Given the description of an element on the screen output the (x, y) to click on. 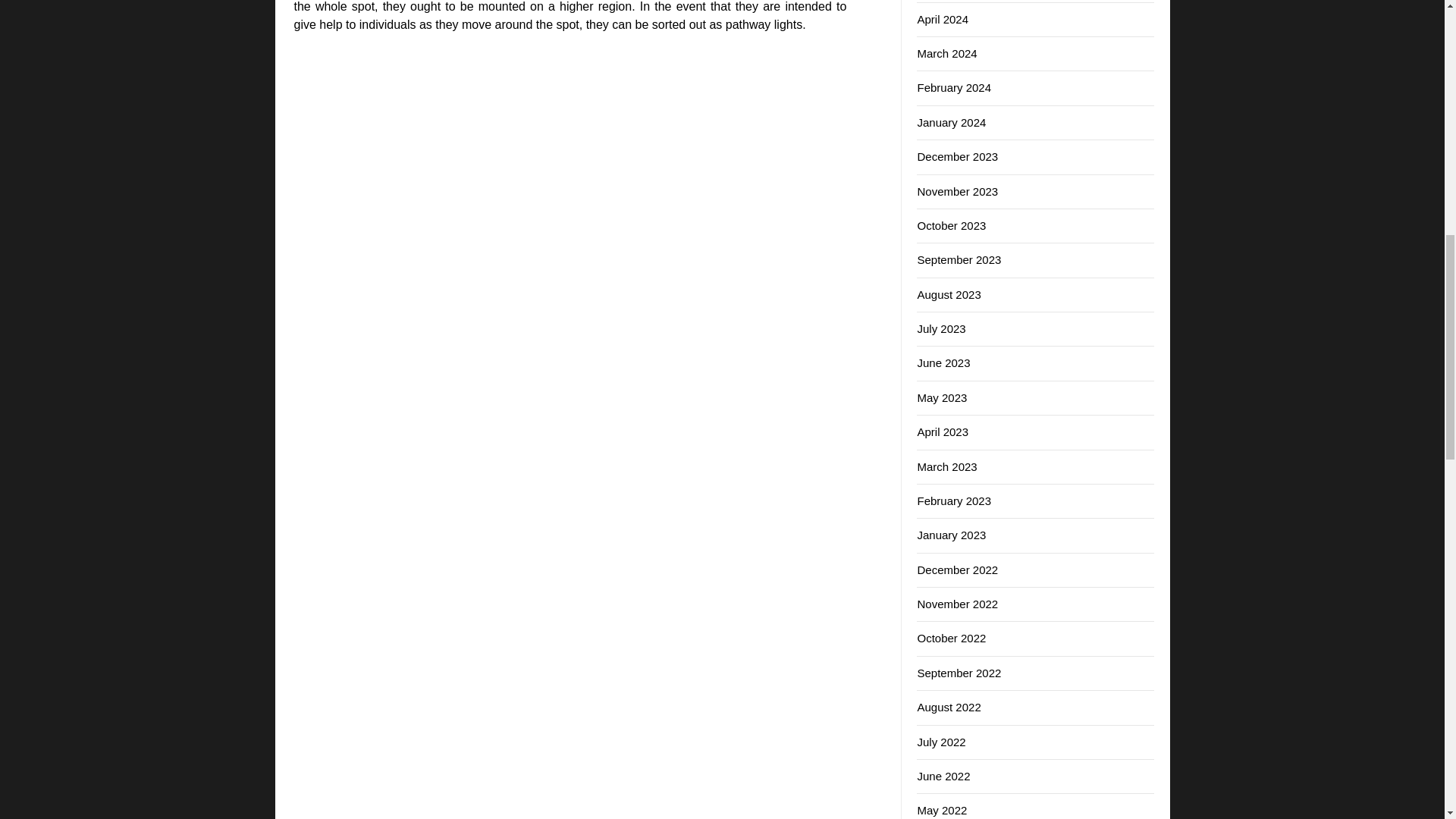
February 2024 (954, 87)
September 2023 (959, 259)
July 2023 (941, 328)
June 2023 (943, 362)
December 2023 (957, 155)
January 2023 (951, 534)
March 2024 (946, 52)
November 2023 (957, 191)
April 2023 (942, 431)
October 2023 (951, 225)
